Given the description of an element on the screen output the (x, y) to click on. 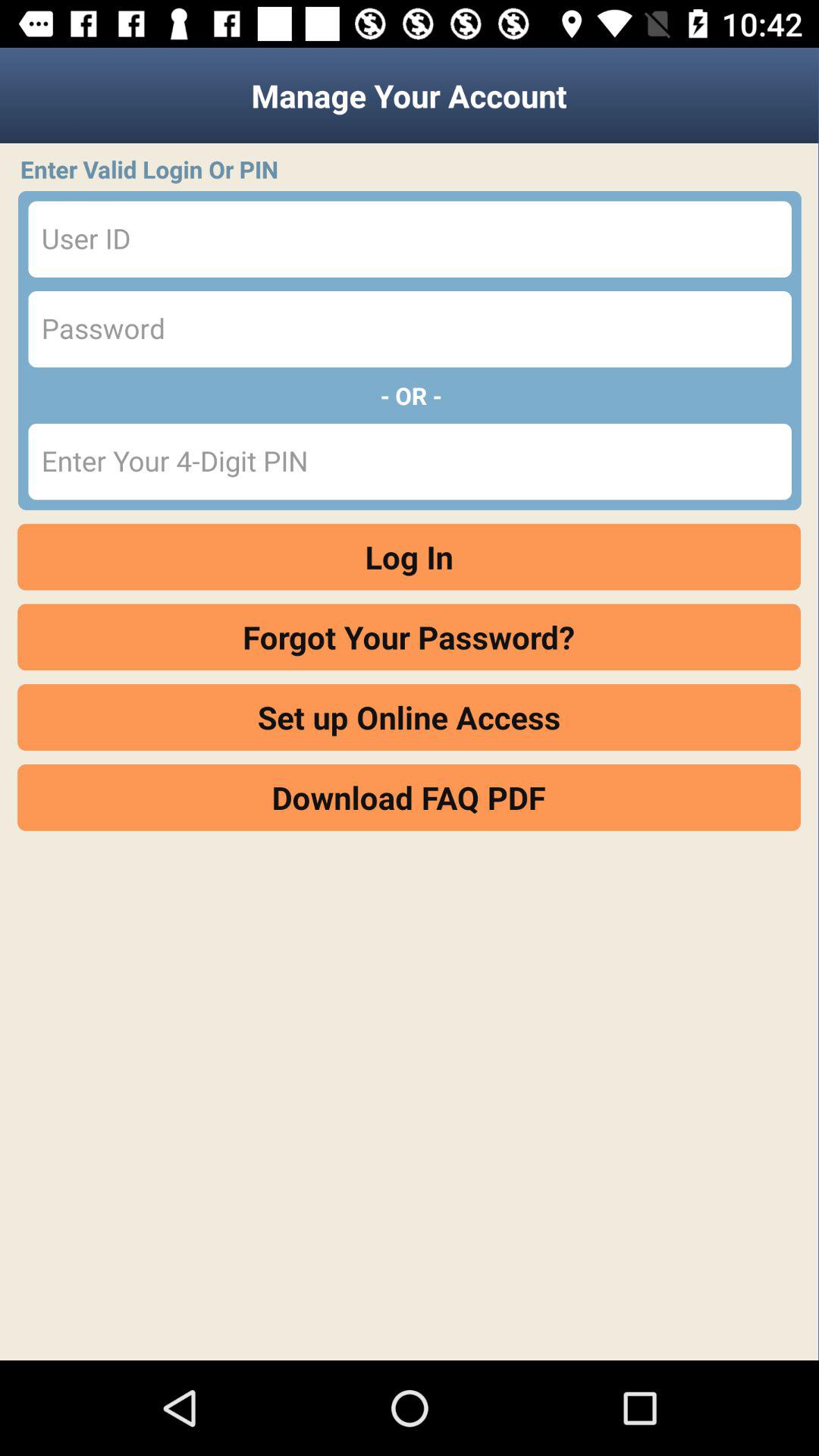
flip to the forgot your password? item (408, 637)
